Given the description of an element on the screen output the (x, y) to click on. 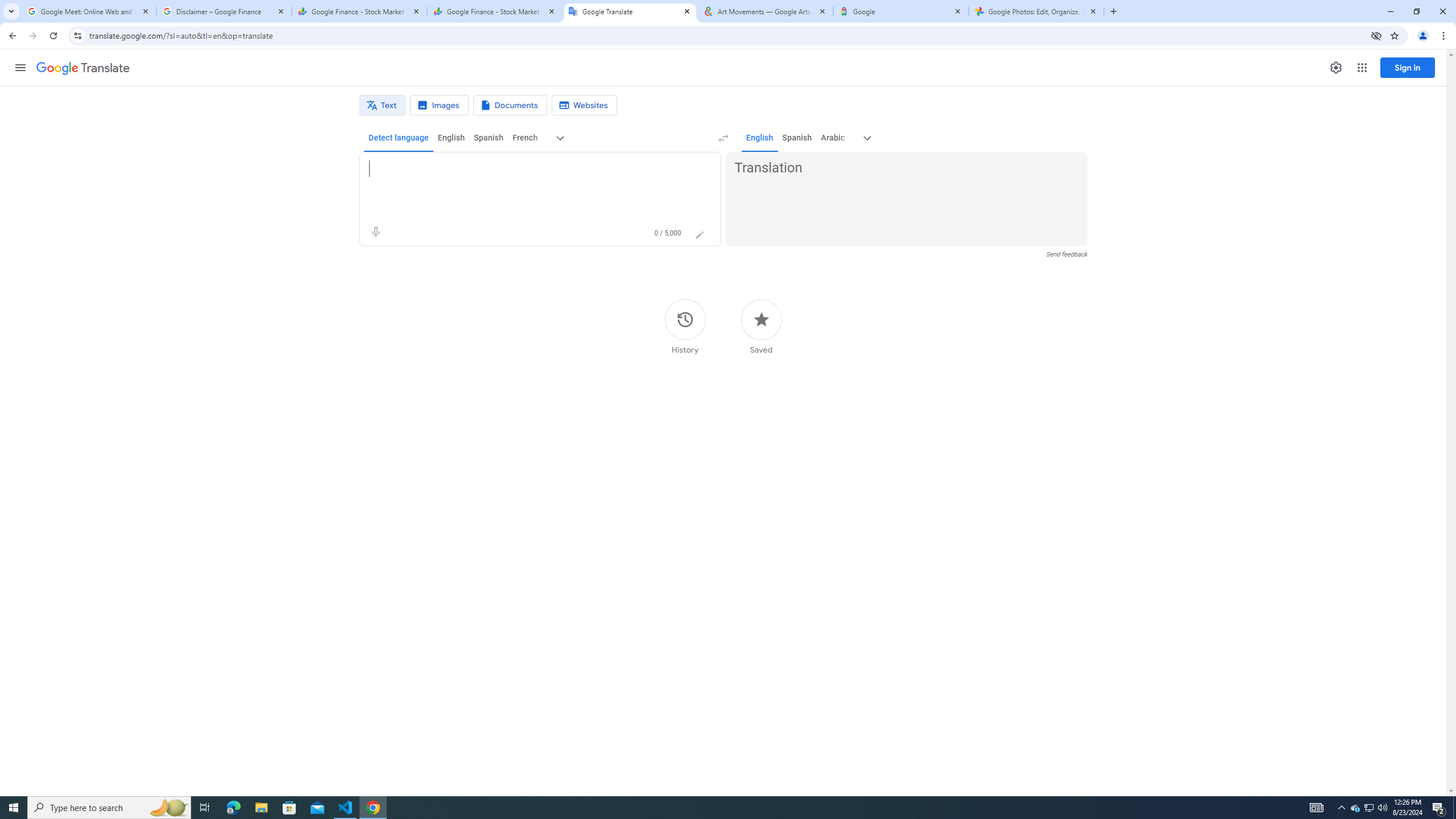
Swap languages (Ctrl+Shift+S) (723, 137)
Arabic (832, 137)
Google Translate (82, 68)
Saved (761, 326)
History (684, 326)
